Given the description of an element on the screen output the (x, y) to click on. 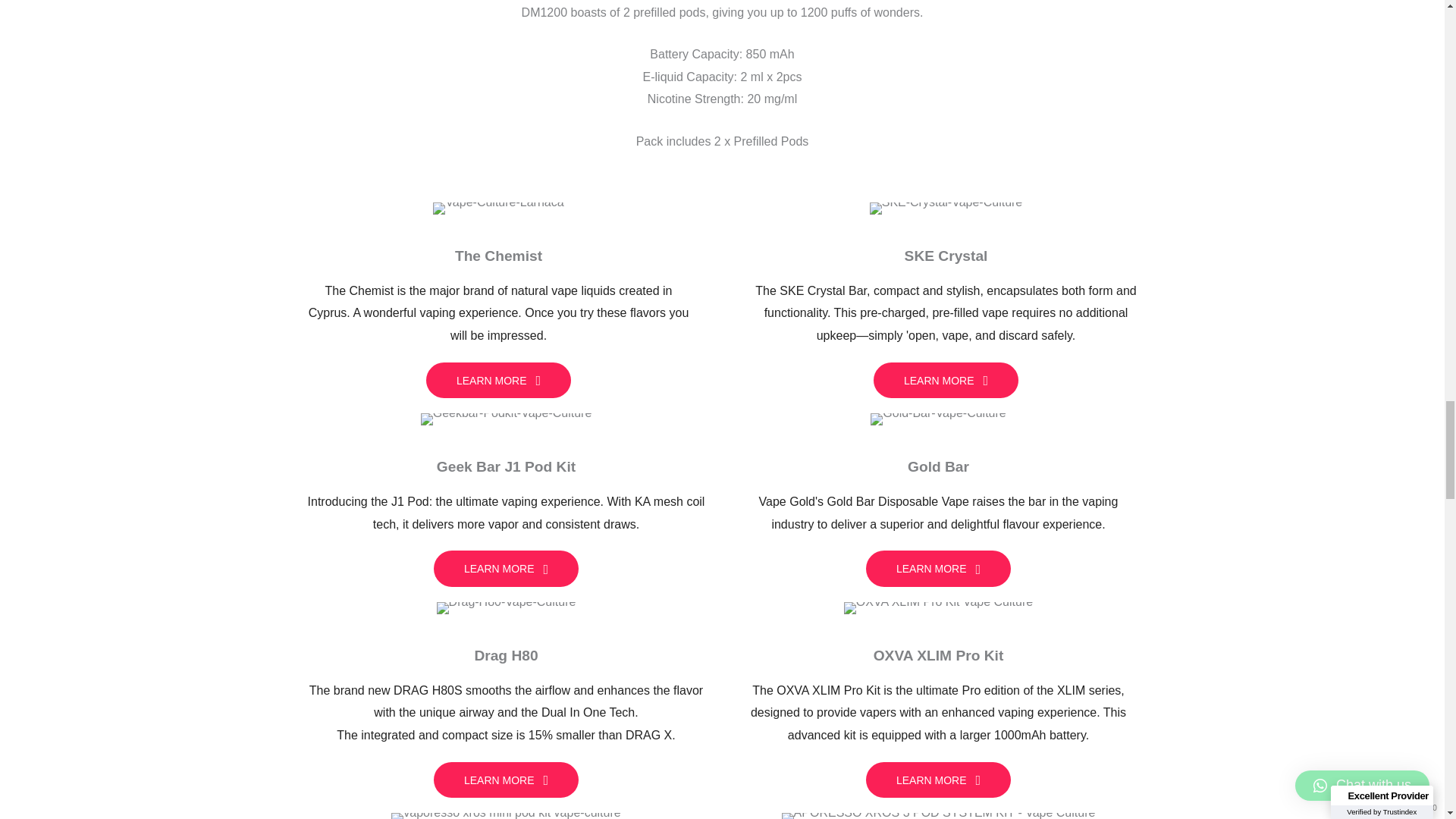
LEARN MORE (498, 380)
LEARN MORE (505, 568)
LEARN MORE (505, 780)
LEARN MORE (938, 780)
LEARN MORE (938, 568)
Vape-Culture-Larnaca (497, 208)
LEARN MORE (945, 380)
